Given the description of an element on the screen output the (x, y) to click on. 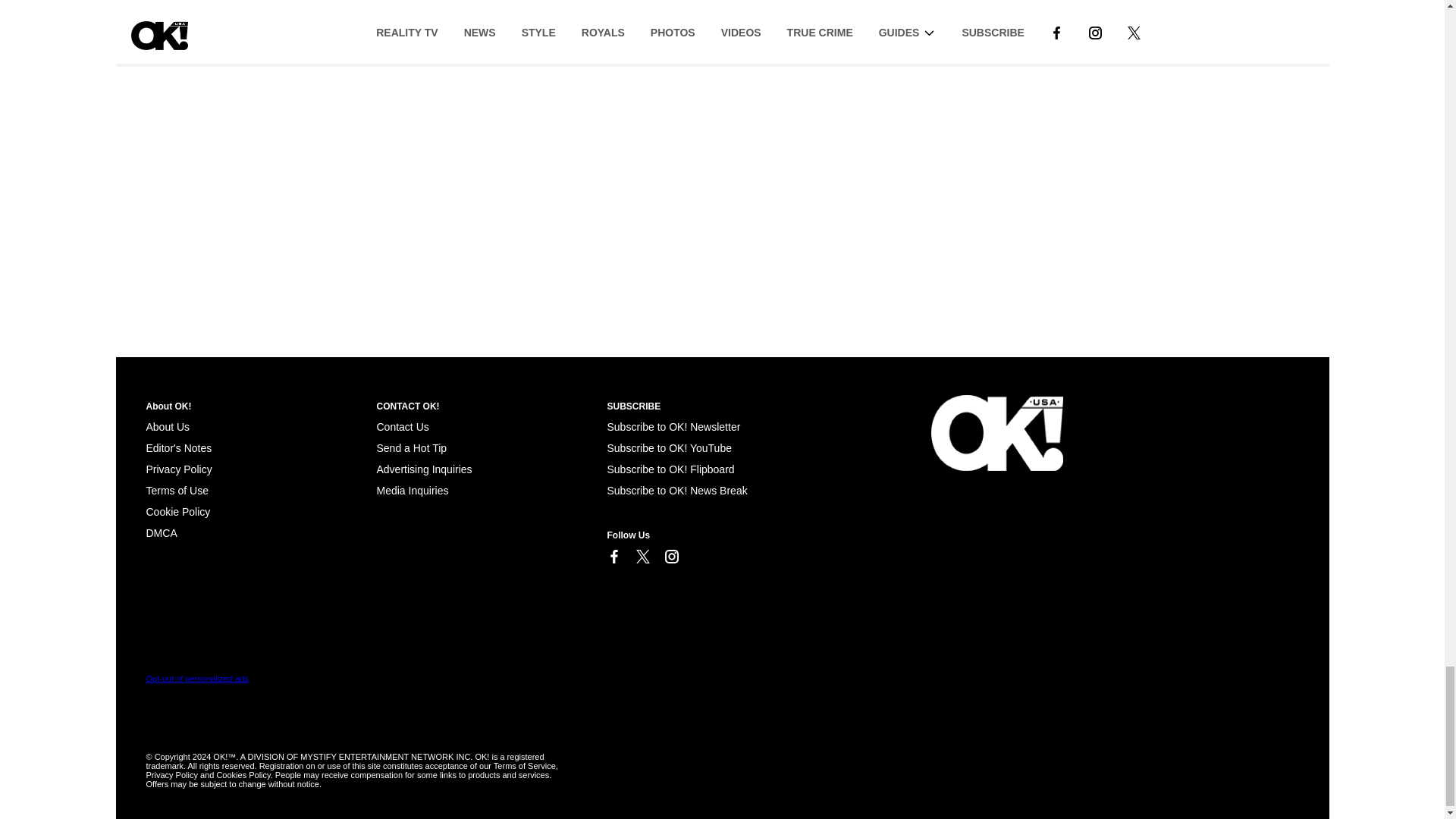
Editor's Notes (178, 448)
Link to Facebook (613, 556)
Contact Us (401, 426)
Link to X (641, 556)
Terms of Use (176, 490)
Cookie Policy (177, 511)
About Us (167, 426)
Link to Instagram (670, 556)
Send a Hot Tip (410, 448)
Privacy Policy (178, 469)
